Given the description of an element on the screen output the (x, y) to click on. 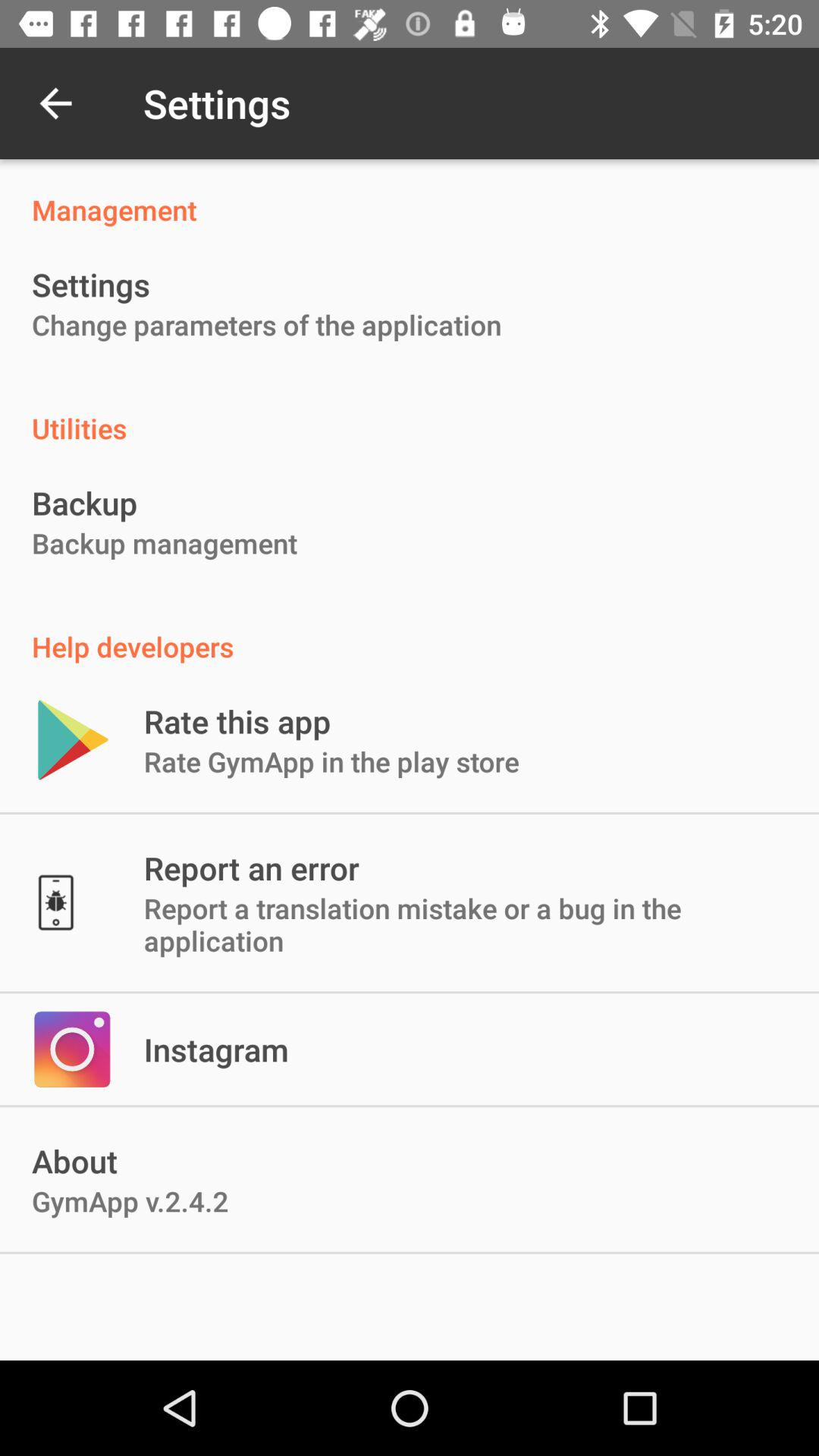
click the item below settings icon (266, 324)
